Given the description of an element on the screen output the (x, y) to click on. 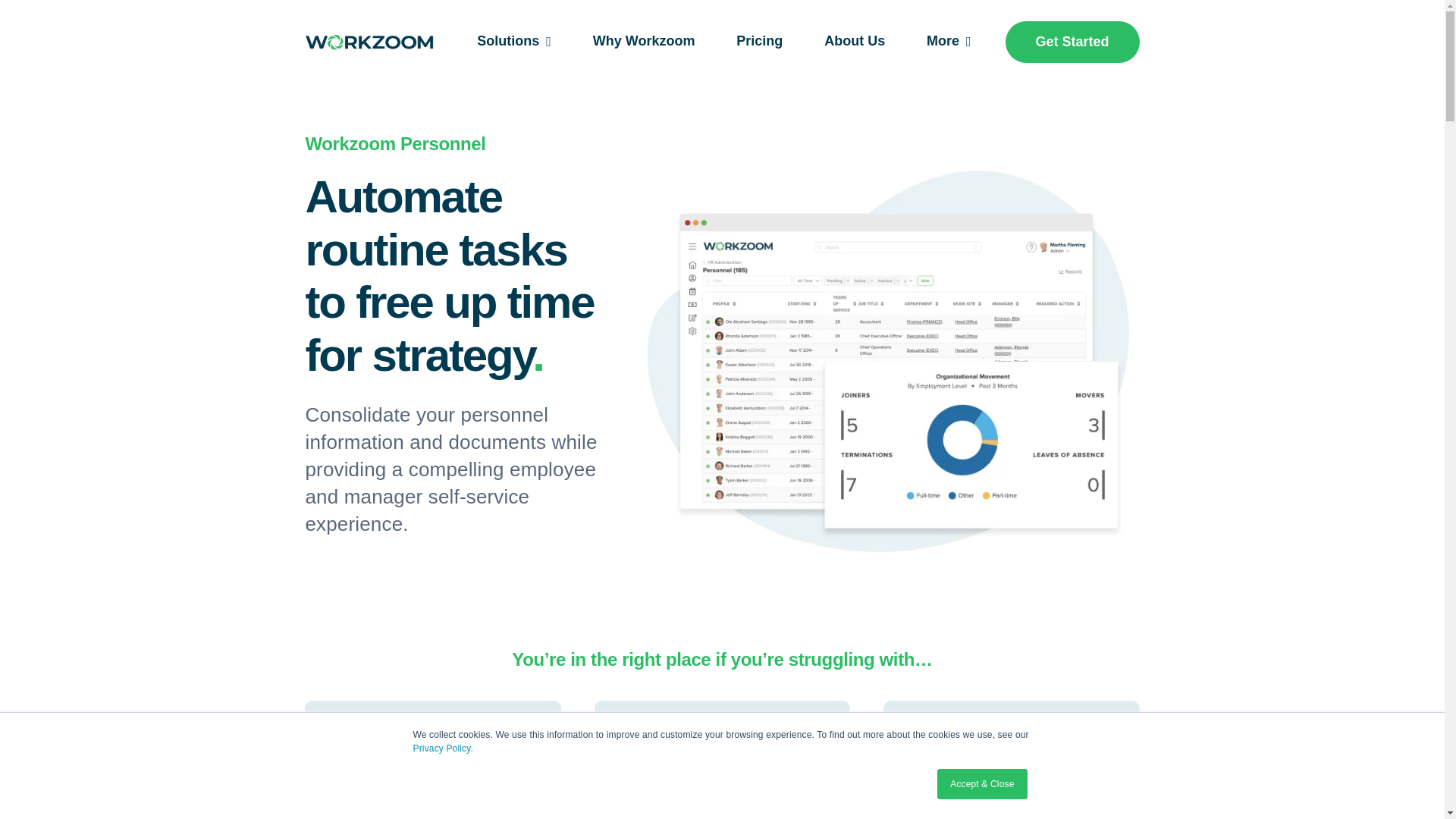
Pricing (759, 42)
Solutions (513, 42)
Privacy Policy. (442, 747)
Get Started (1073, 42)
About Us (854, 42)
Why Workzoom (644, 42)
More (948, 42)
